Given the description of an element on the screen output the (x, y) to click on. 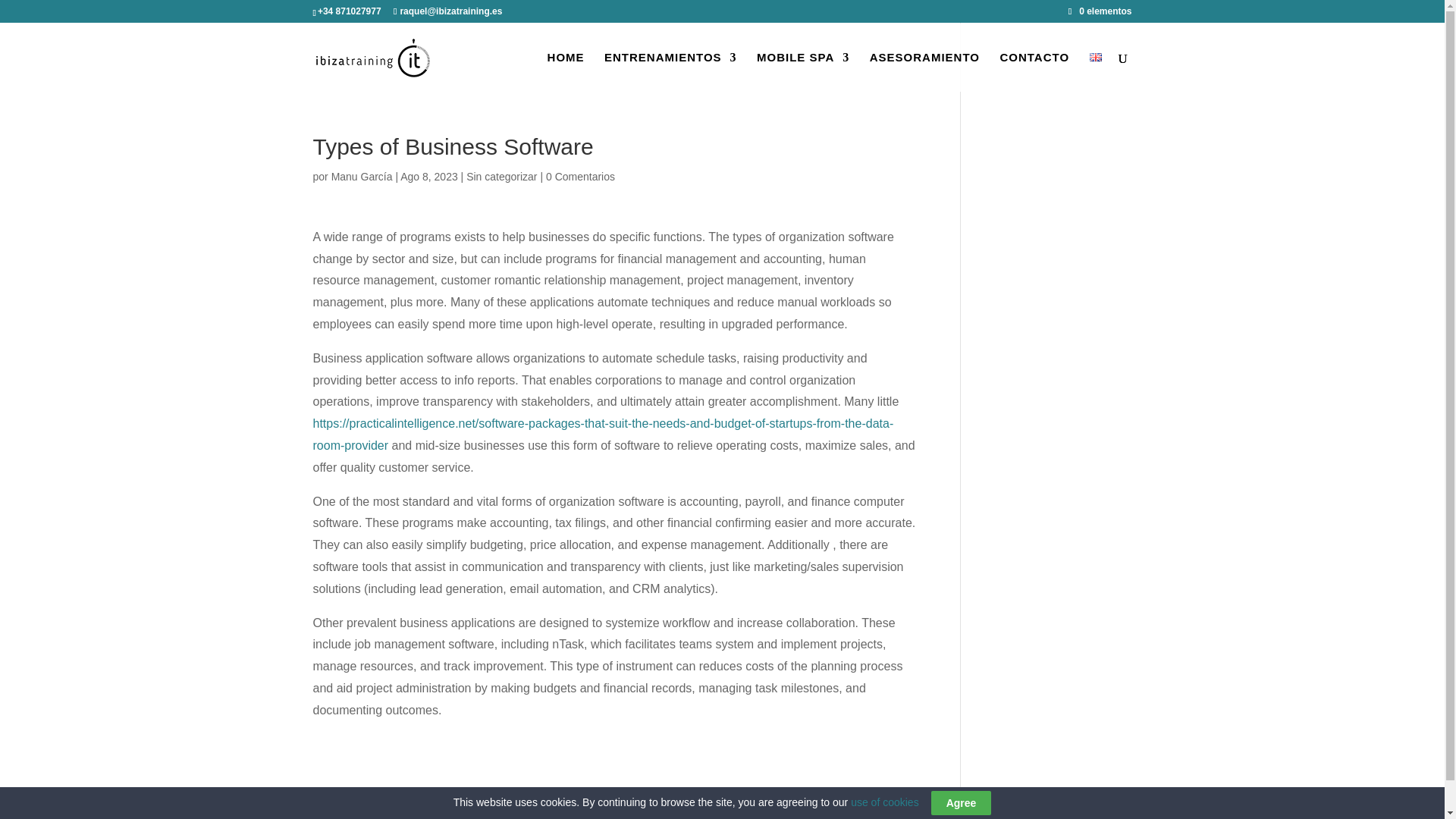
0 elementos (1100, 10)
CONTACTO (1033, 71)
ASESORAMIENTO (924, 71)
ENTRENAMIENTOS (670, 71)
MOBILE SPA (802, 71)
HOME (566, 71)
